Given the description of an element on the screen output the (x, y) to click on. 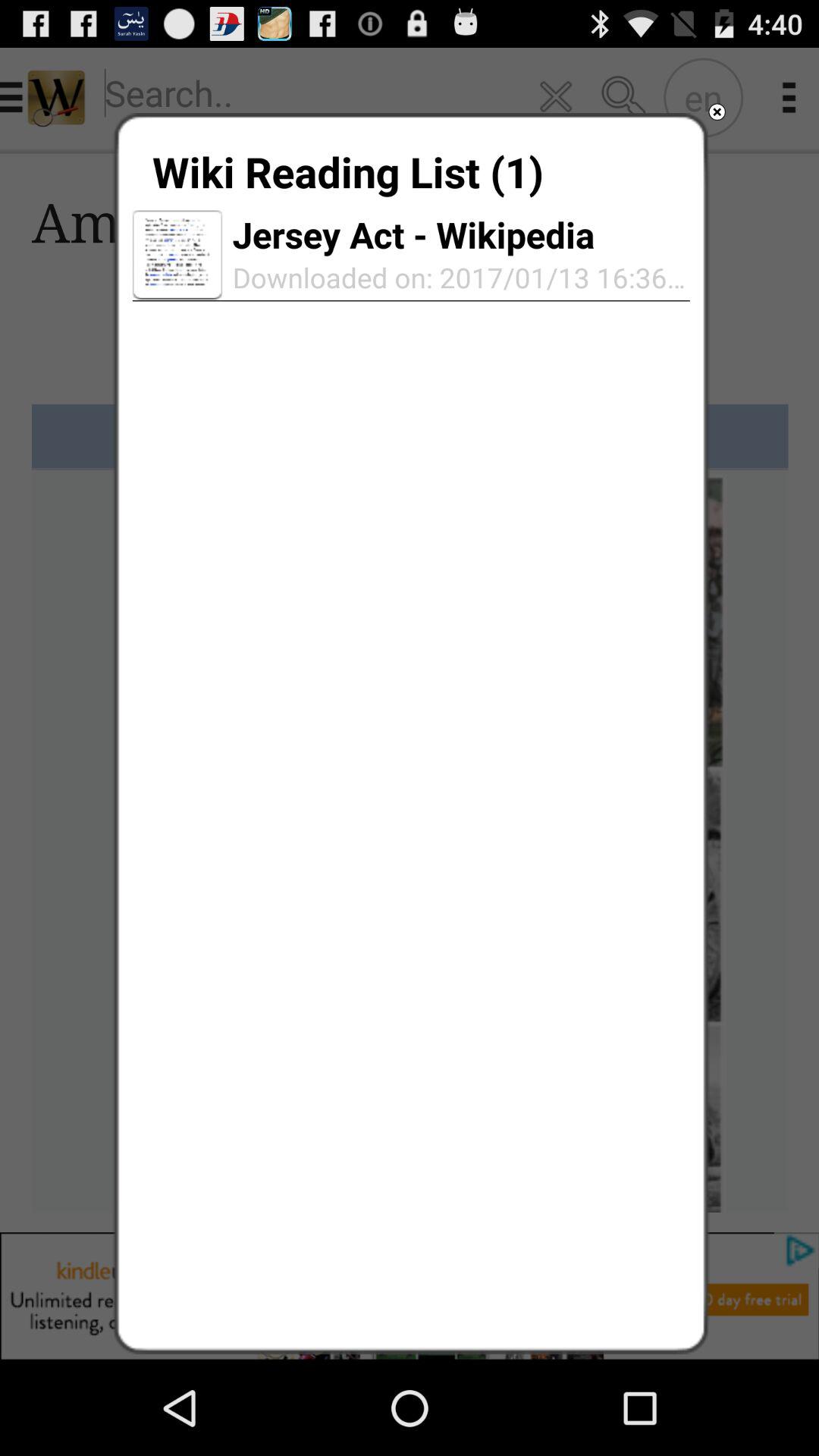
launch icon to the left of the downloaded on 2017 icon (177, 255)
